Given the description of an element on the screen output the (x, y) to click on. 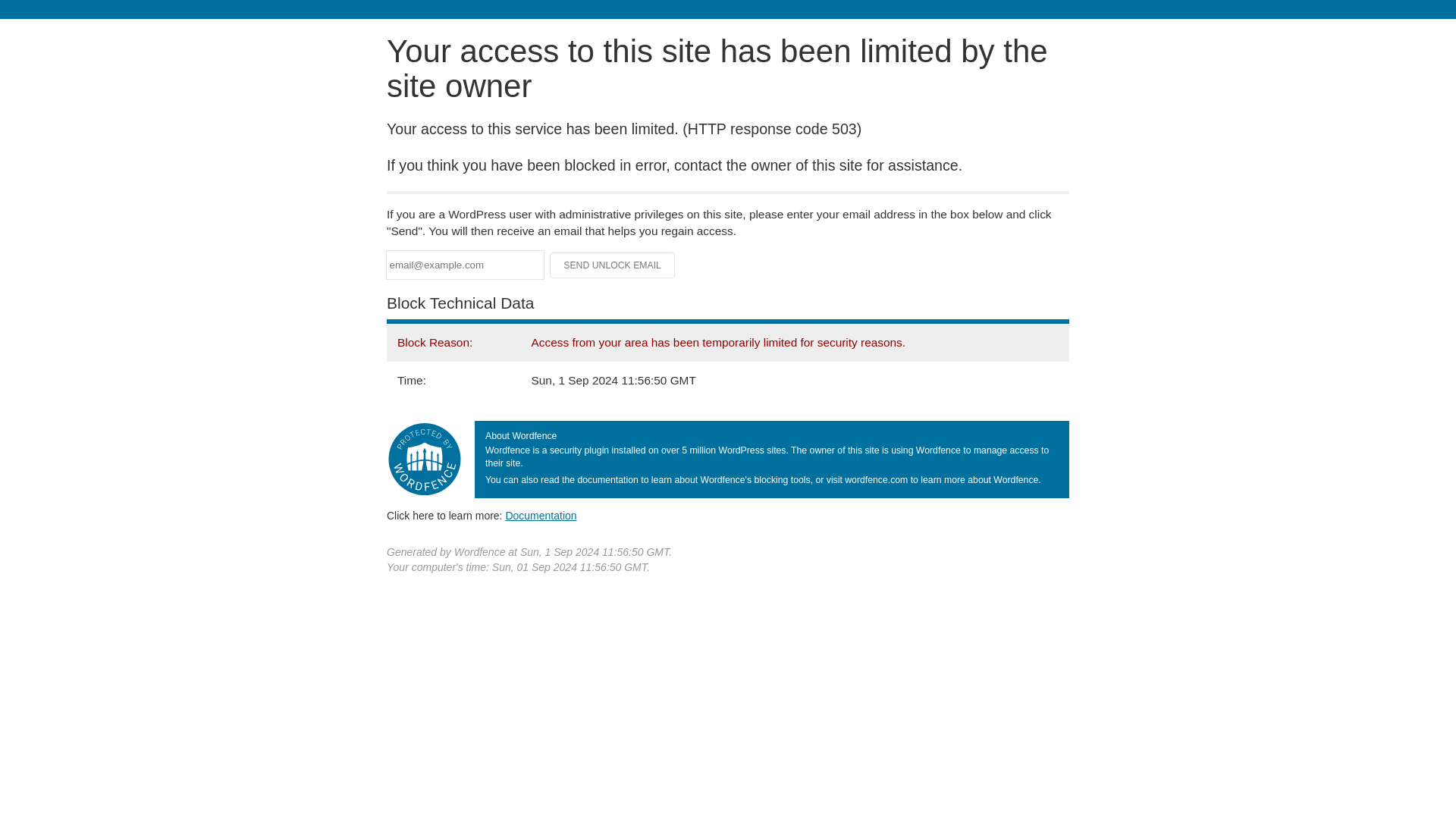
Send Unlock Email (612, 265)
Documentation (540, 515)
Send Unlock Email (612, 265)
